Given the description of an element on the screen output the (x, y) to click on. 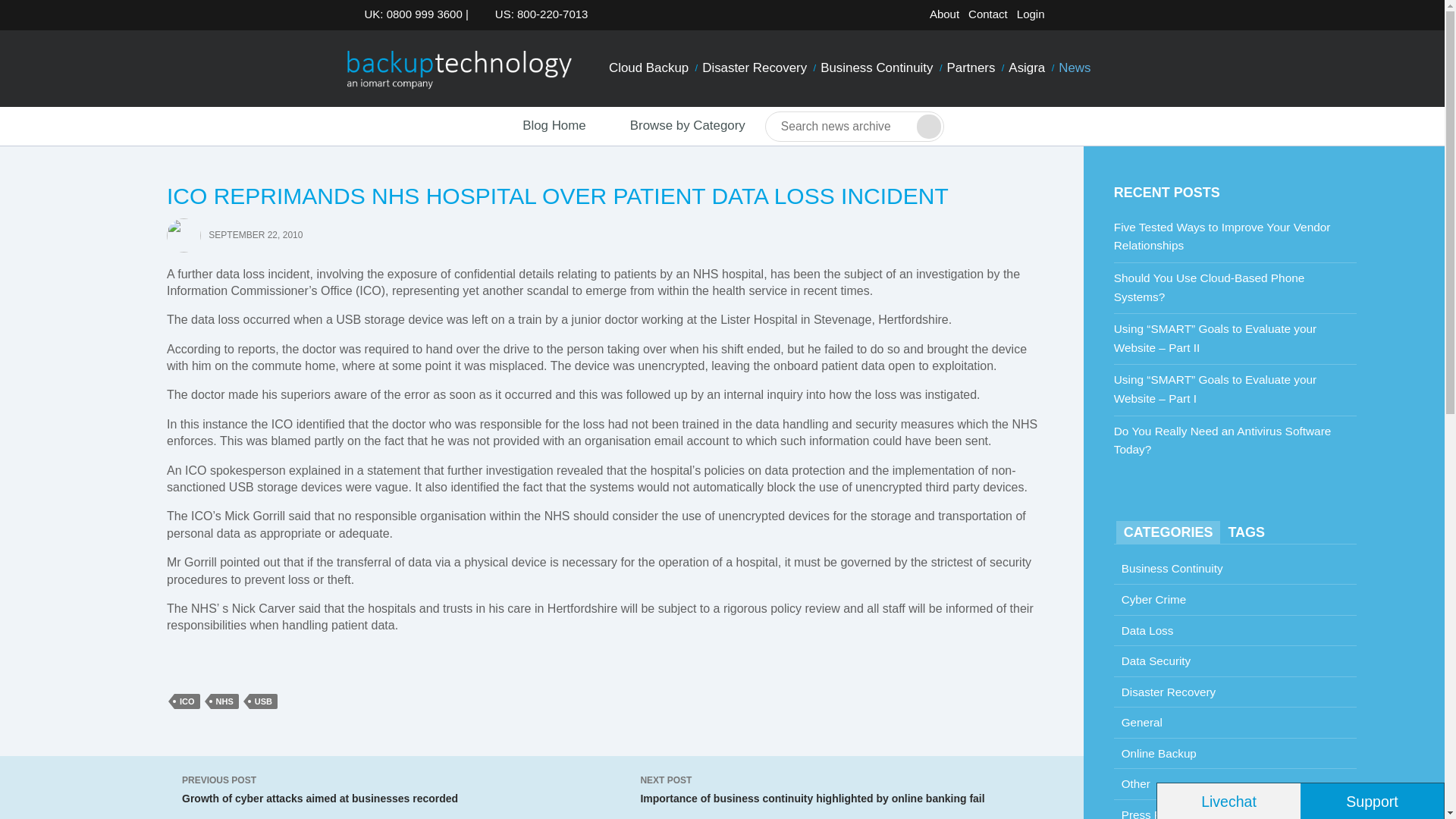
News (1074, 68)
twitter (1064, 17)
Facebook (1088, 17)
About (943, 14)
Search (928, 126)
Partners (971, 68)
Contact (987, 14)
Business Continuity (876, 68)
Browse by Category (675, 126)
Login (1030, 14)
Asigra (1026, 68)
Disaster Recovery (754, 68)
Blog Home (539, 126)
Cloud Backup (648, 68)
Search (928, 126)
